Given the description of an element on the screen output the (x, y) to click on. 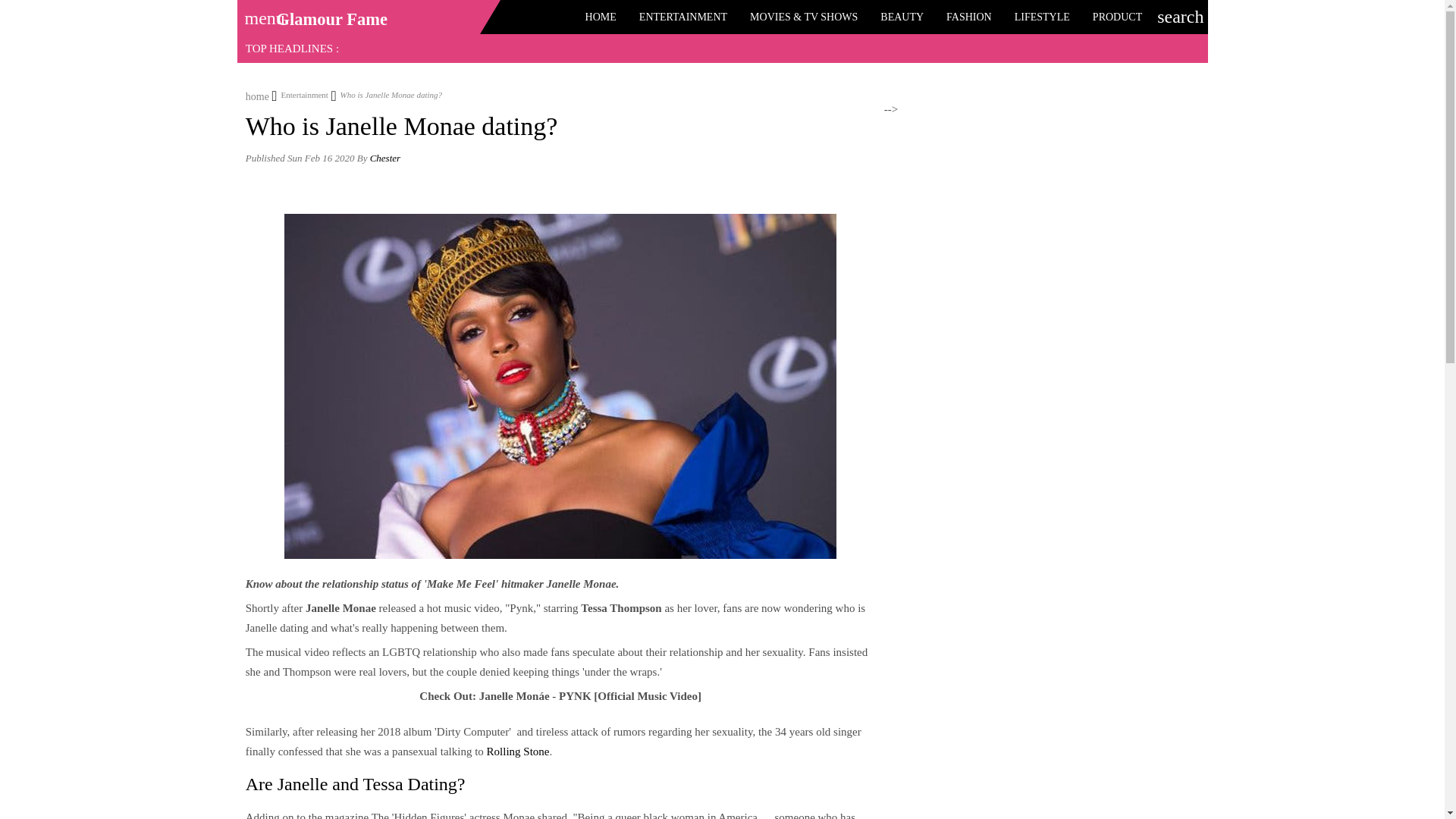
home (257, 94)
Glamour Fame (331, 18)
BEAUTY (901, 17)
PRODUCT (1117, 17)
FASHION (968, 17)
Rolling Stone (518, 751)
Entertainment (300, 94)
LIFESTYLE (1042, 17)
menu (259, 13)
